Given the description of an element on the screen output the (x, y) to click on. 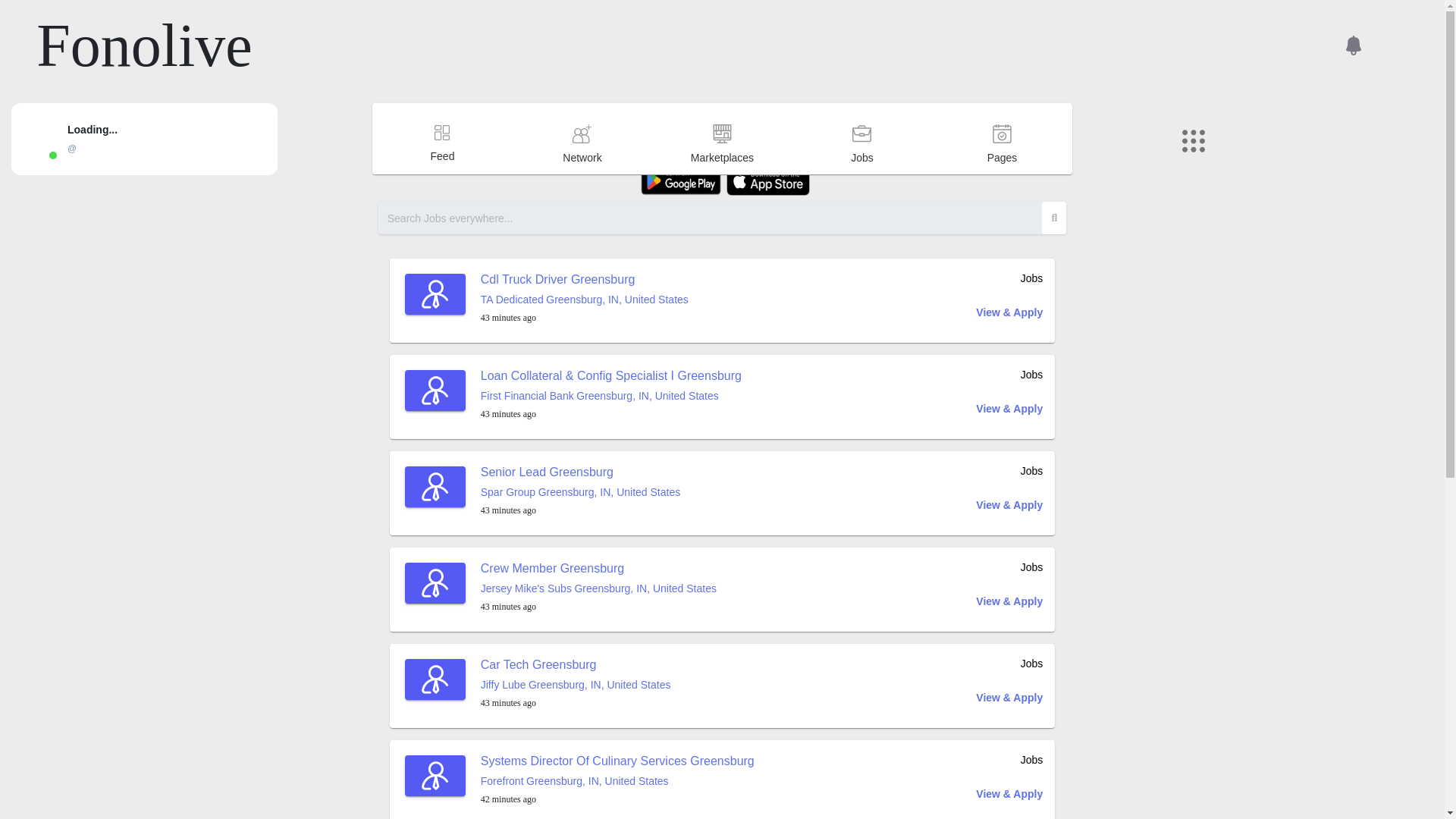
Marketplaces (721, 173)
Greensburg, IN, United States (644, 588)
Pages (1002, 173)
First Financial Bank (526, 395)
Crew Member Greensburg (552, 567)
Greensburg, IN, United States (609, 491)
Car Tech Greensburg (538, 664)
Greensburg, IN, United States (617, 299)
Greensburg, IN, United States (647, 395)
Jersey Mike'S Subs (526, 588)
